Given the description of an element on the screen output the (x, y) to click on. 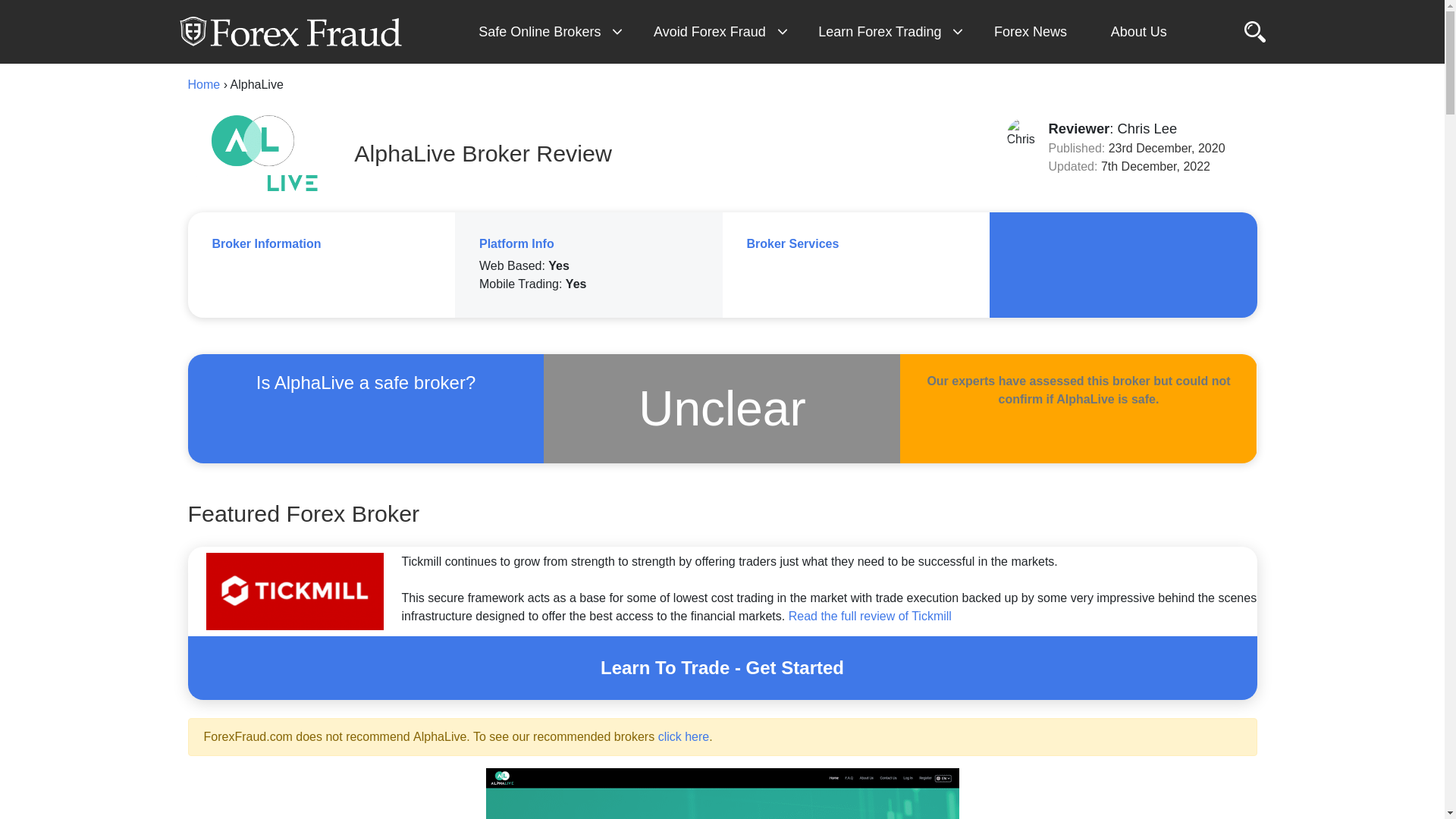
click here (684, 736)
ForexFraud.com (289, 31)
Forex News (1036, 31)
Avoid Forex Fraud (715, 31)
About Us (1144, 31)
Read the full review of Tickmill (870, 615)
Learn To Trade - Get Started (721, 667)
Learn Forex Trading (885, 31)
Safe Online Brokers (545, 31)
Learn Forex Trading (885, 31)
